Given the description of an element on the screen output the (x, y) to click on. 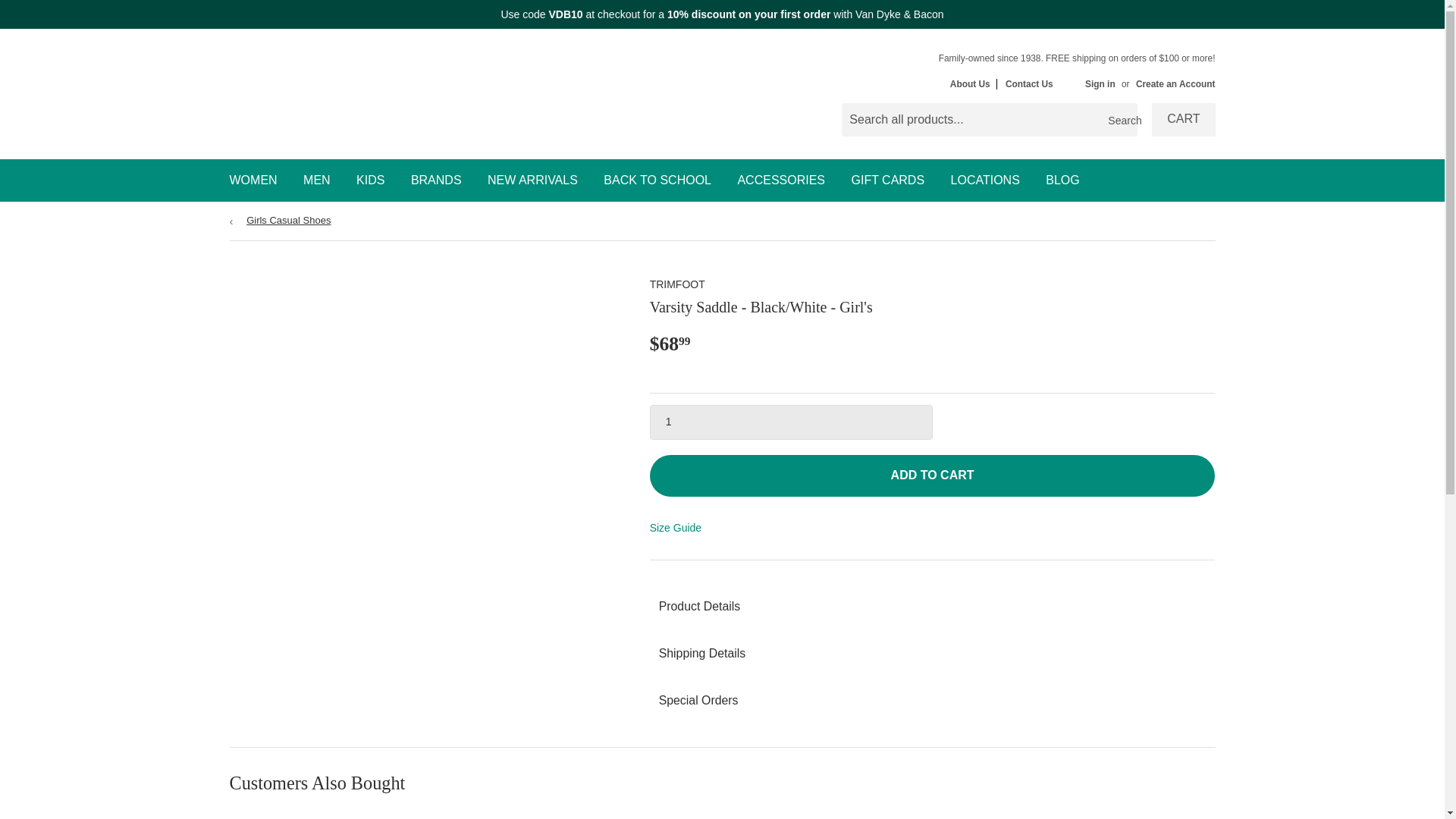
Sign in (1099, 83)
Create an Account (1175, 83)
CART (1182, 119)
About Us (970, 83)
Search (1120, 120)
1 (791, 421)
Contact Us (1028, 83)
